Given the description of an element on the screen output the (x, y) to click on. 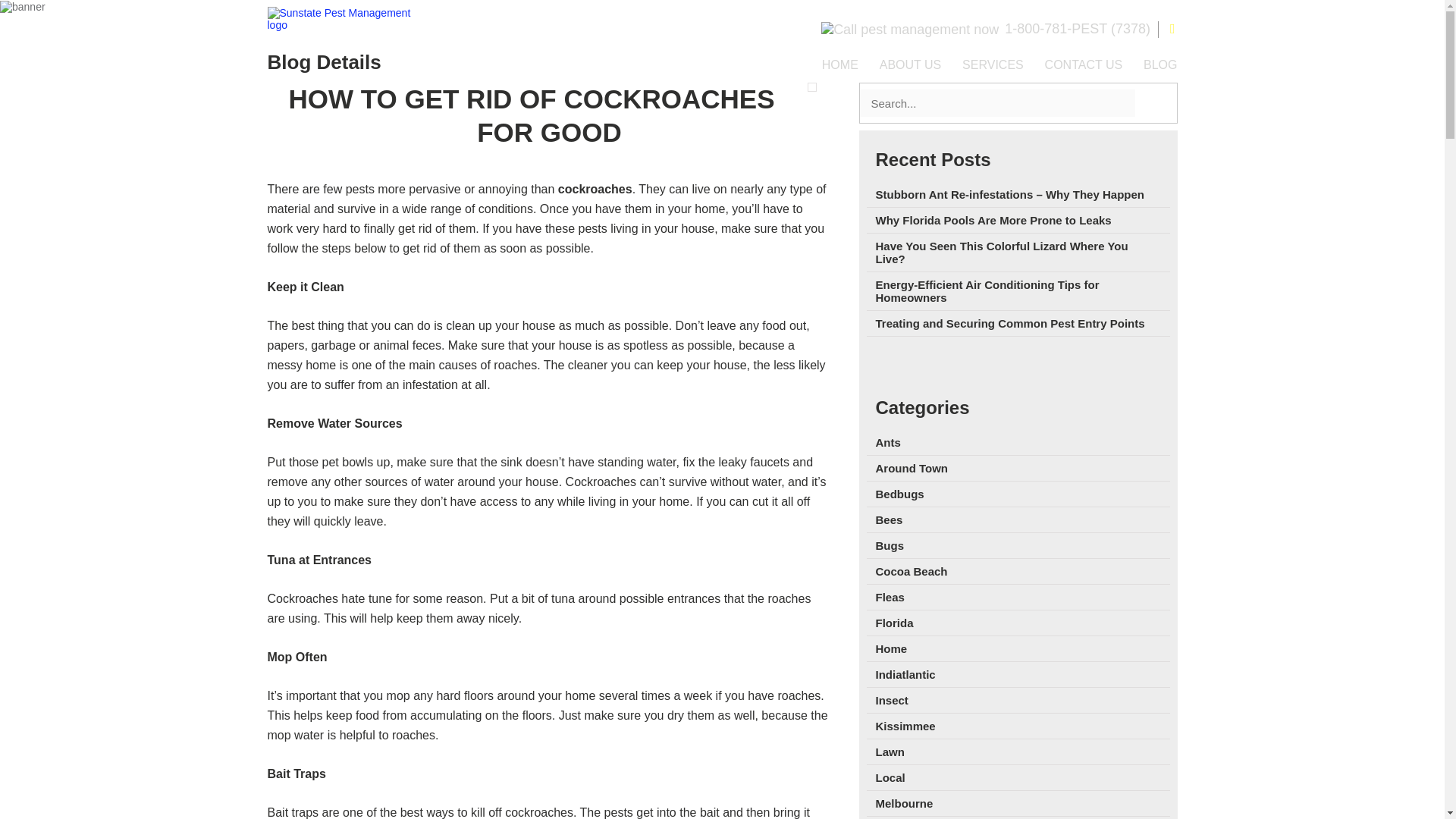
HOME (839, 64)
Home (891, 648)
Florida (893, 622)
ABOUT US (910, 64)
Energy-Efficient Air Conditioning Tips for Homeowners (987, 290)
Indiatlantic (904, 674)
CONTACT US (1083, 64)
Cocoa Beach (911, 571)
Around Town (911, 468)
Insect (891, 699)
